Given the description of an element on the screen output the (x, y) to click on. 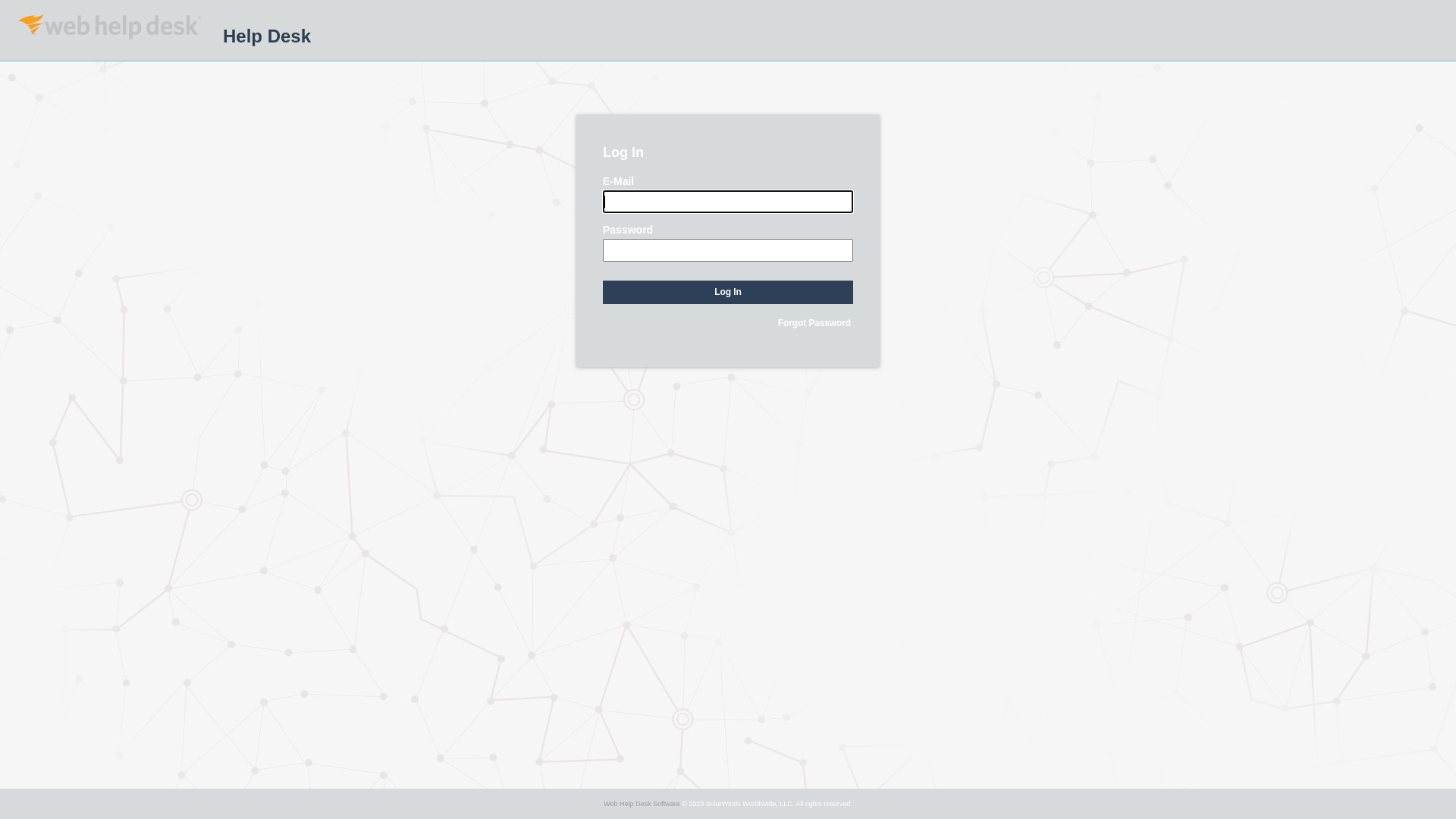
Web Help Desk Software Element type: text (641, 803)
